Given the description of an element on the screen output the (x, y) to click on. 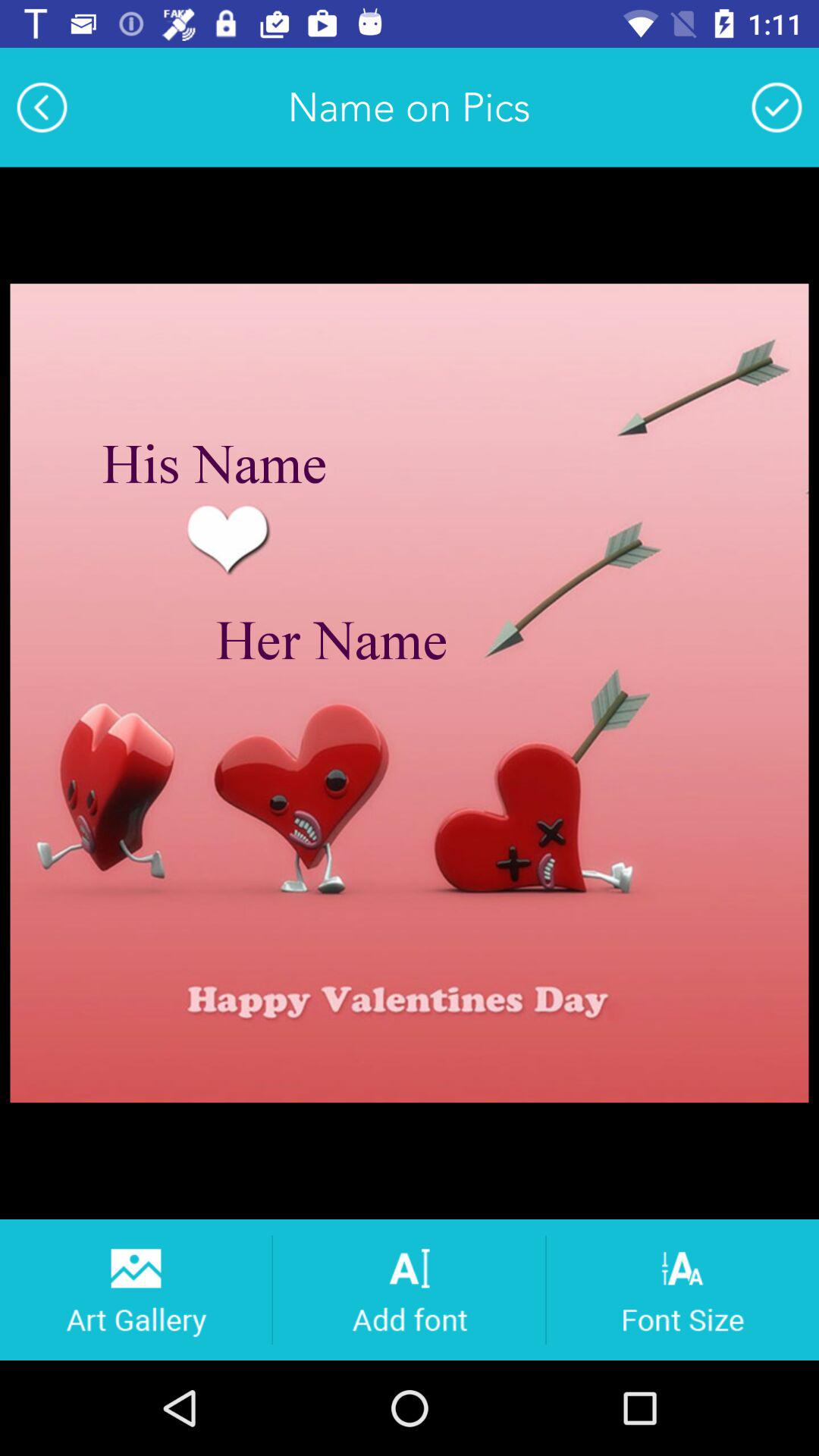
go to art gallery option (135, 1289)
